Given the description of an element on the screen output the (x, y) to click on. 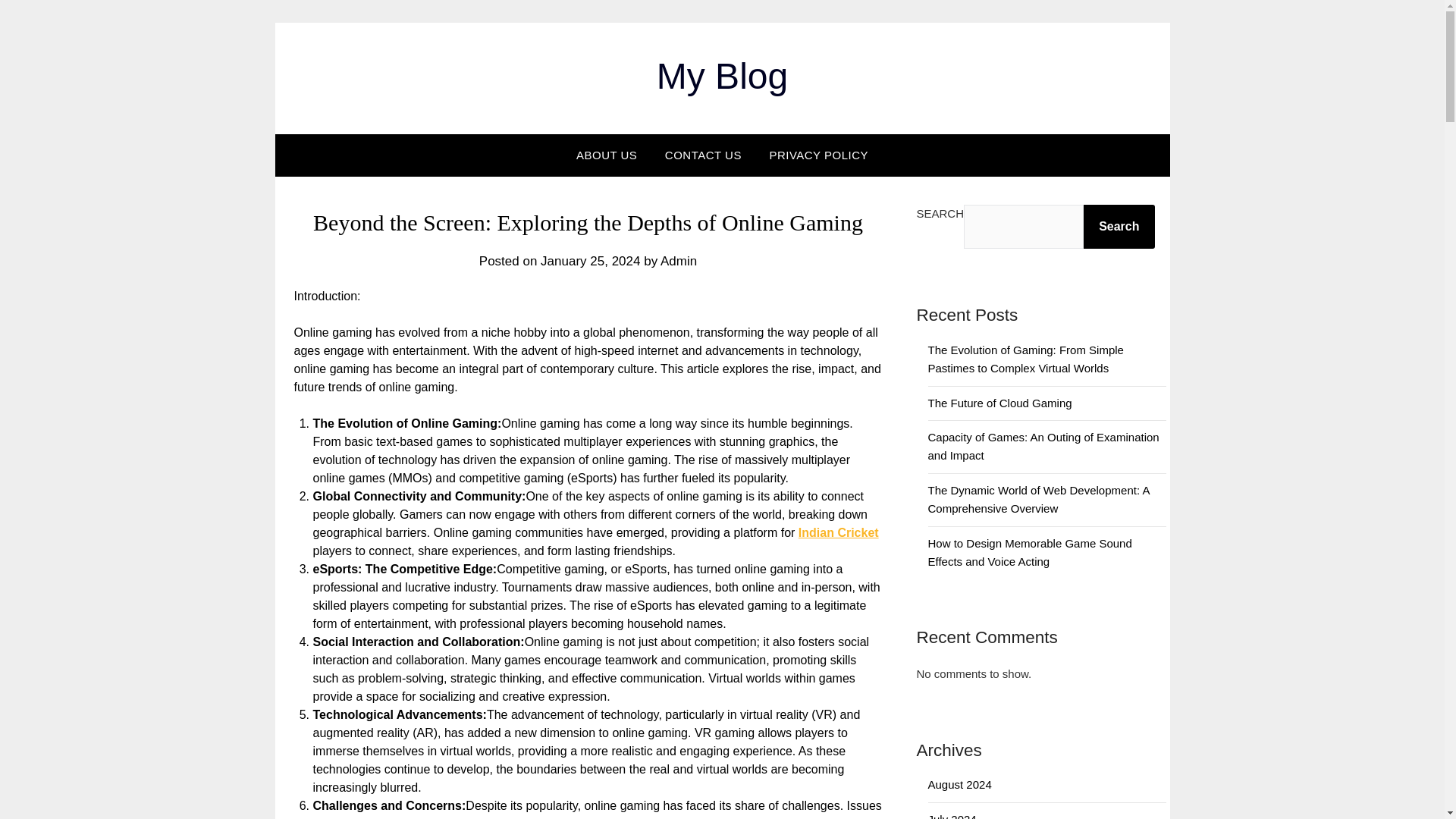
Indian Cricket (838, 532)
ABOUT US (606, 155)
PRIVACY POLICY (818, 155)
Search (1118, 226)
How to Design Memorable Game Sound Effects and Voice Acting (1030, 552)
January 25, 2024 (590, 260)
August 2024 (959, 784)
The Future of Cloud Gaming (999, 402)
July 2024 (952, 816)
Admin (679, 260)
Capacity of Games: An Outing of Examination and Impact (1043, 445)
My Blog (721, 76)
CONTACT US (703, 155)
